Given the description of an element on the screen output the (x, y) to click on. 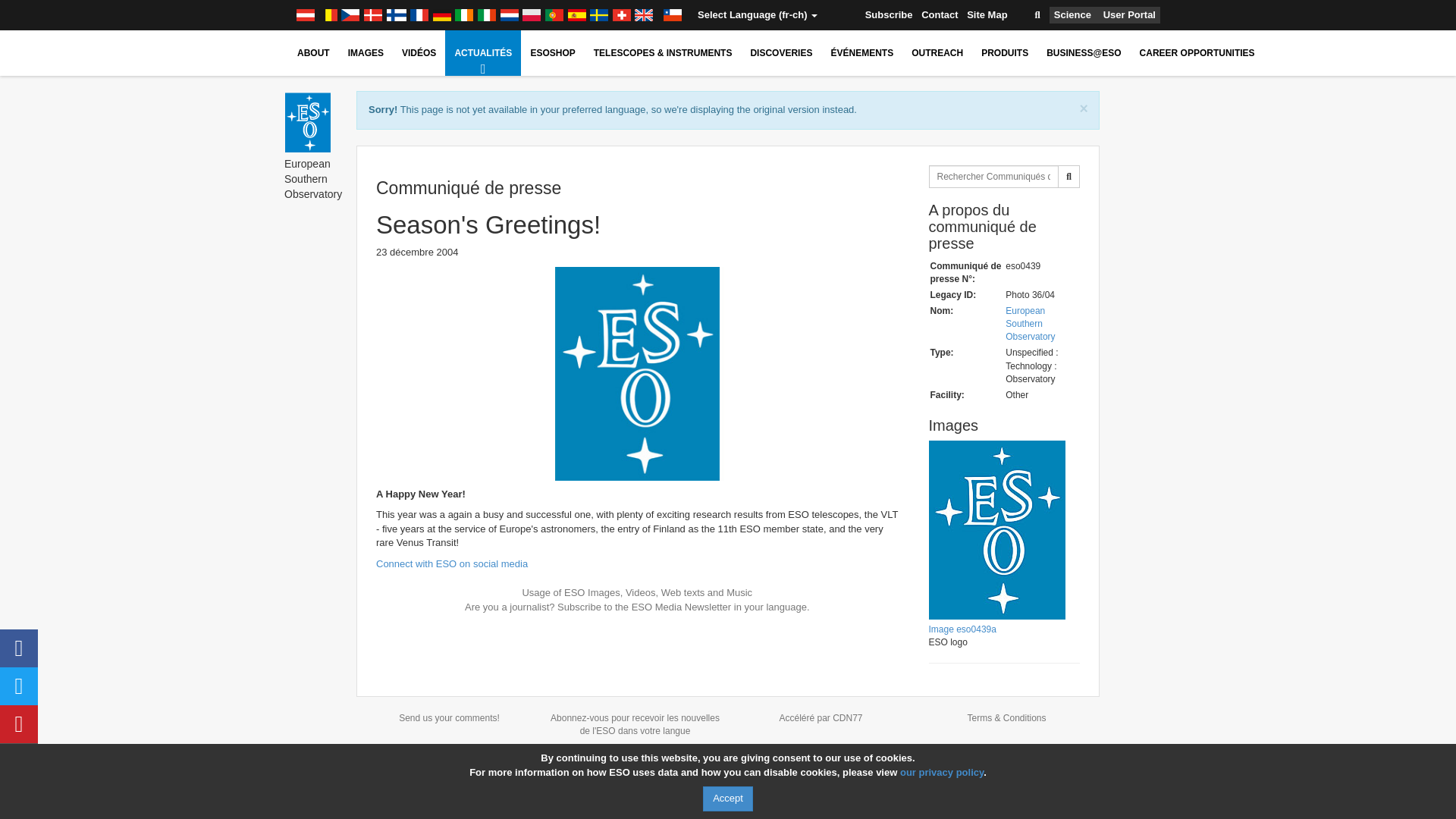
Austria (305, 15)
Denmark (372, 15)
Ireland (464, 15)
Czechia (349, 15)
Sweden (598, 15)
User Portal (1129, 14)
Poland (531, 15)
Spain (576, 15)
ABOUT (313, 53)
Italy (486, 15)
